Given the description of an element on the screen output the (x, y) to click on. 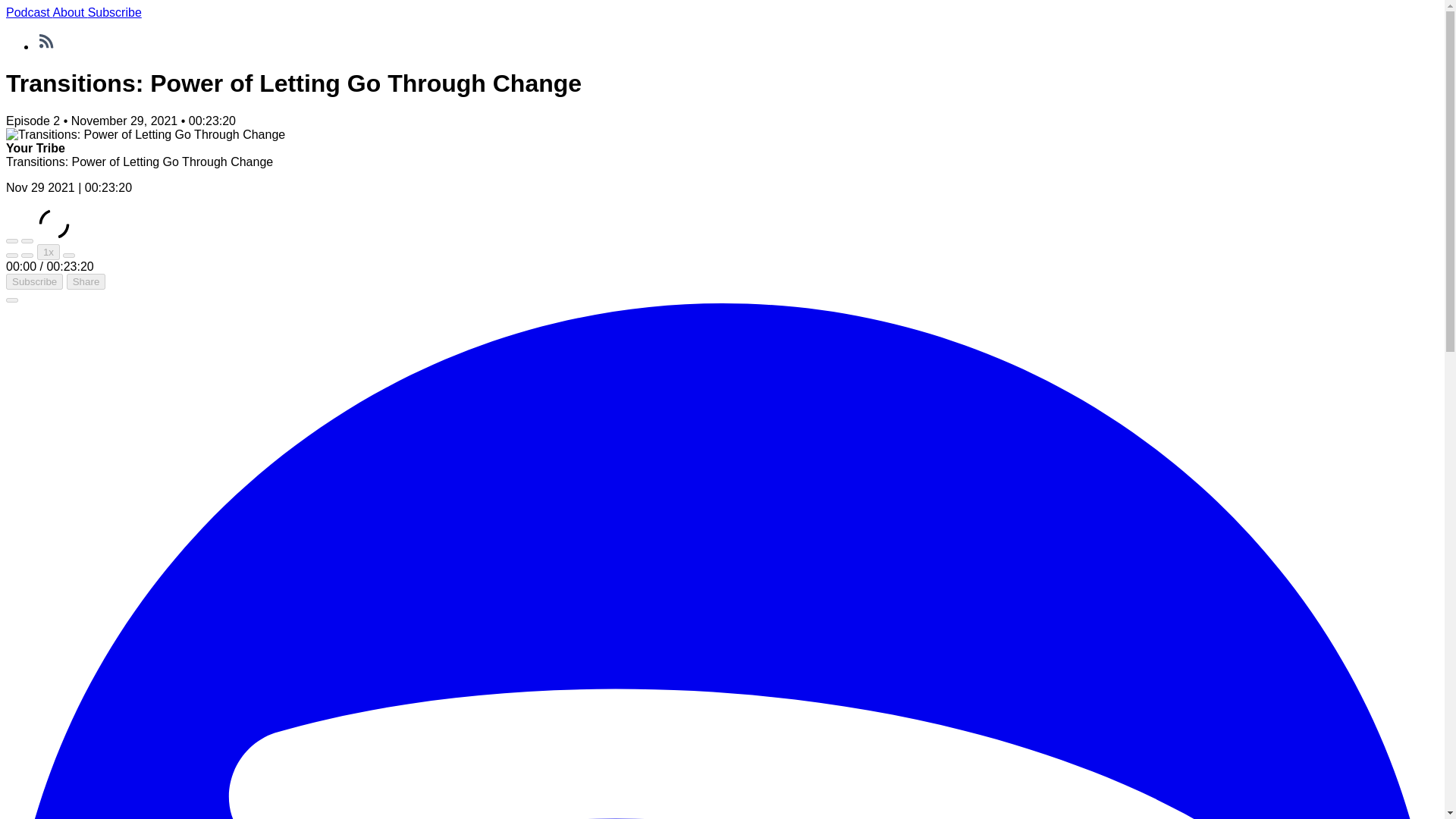
Podcast (28, 11)
1x (48, 252)
Subscribe (33, 281)
Share (86, 281)
Subscribe (114, 11)
About (69, 11)
